Given the description of an element on the screen output the (x, y) to click on. 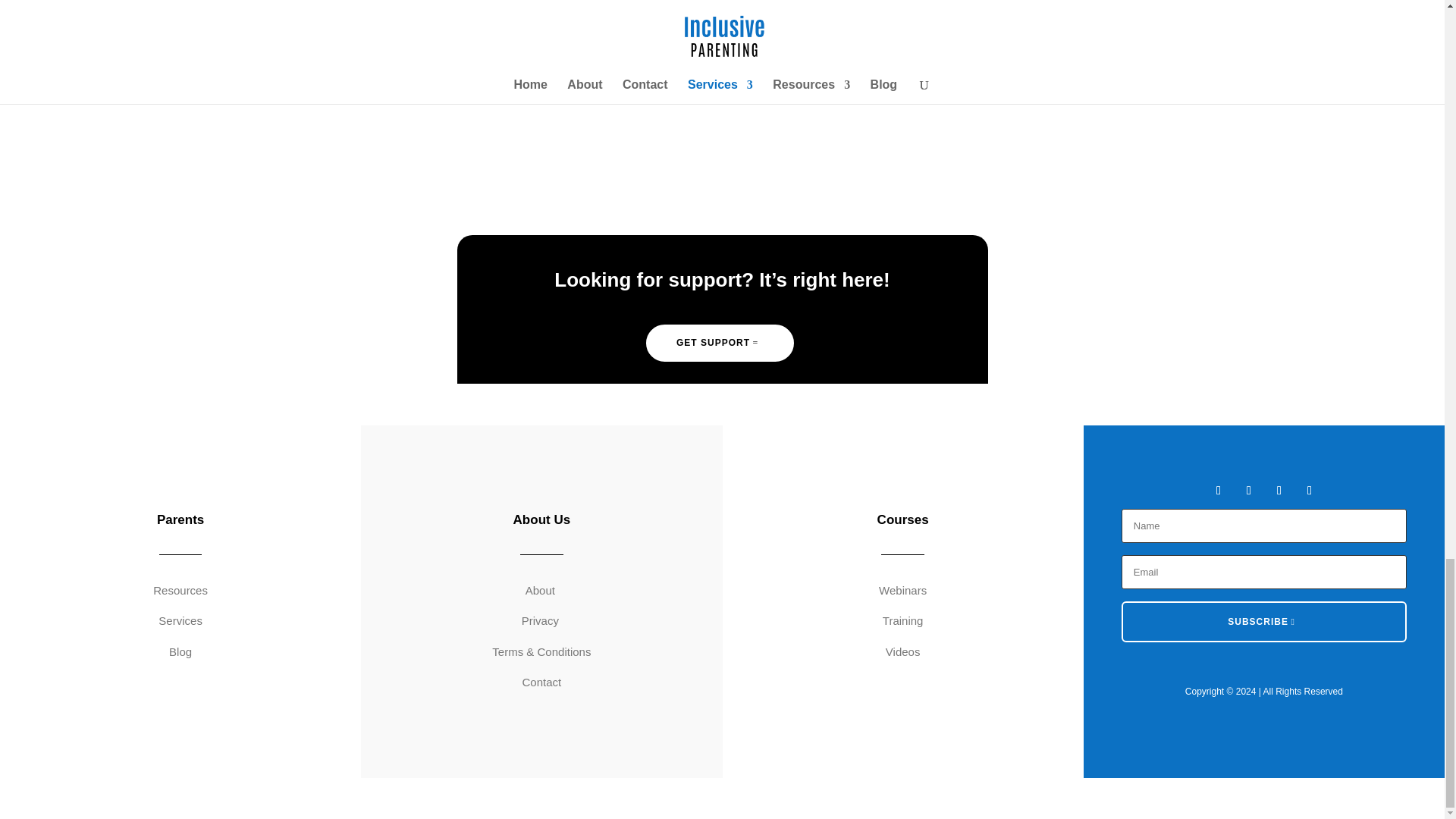
GET SUPPORT (719, 342)
SUBSCRIBE (1263, 621)
Advertisement (505, 49)
Follow on Twitter (1248, 490)
Follow on Pinterest (1309, 490)
Follow on Instagram (1278, 490)
Advertisement (937, 49)
Follow on Facebook (1218, 490)
